Given the description of an element on the screen output the (x, y) to click on. 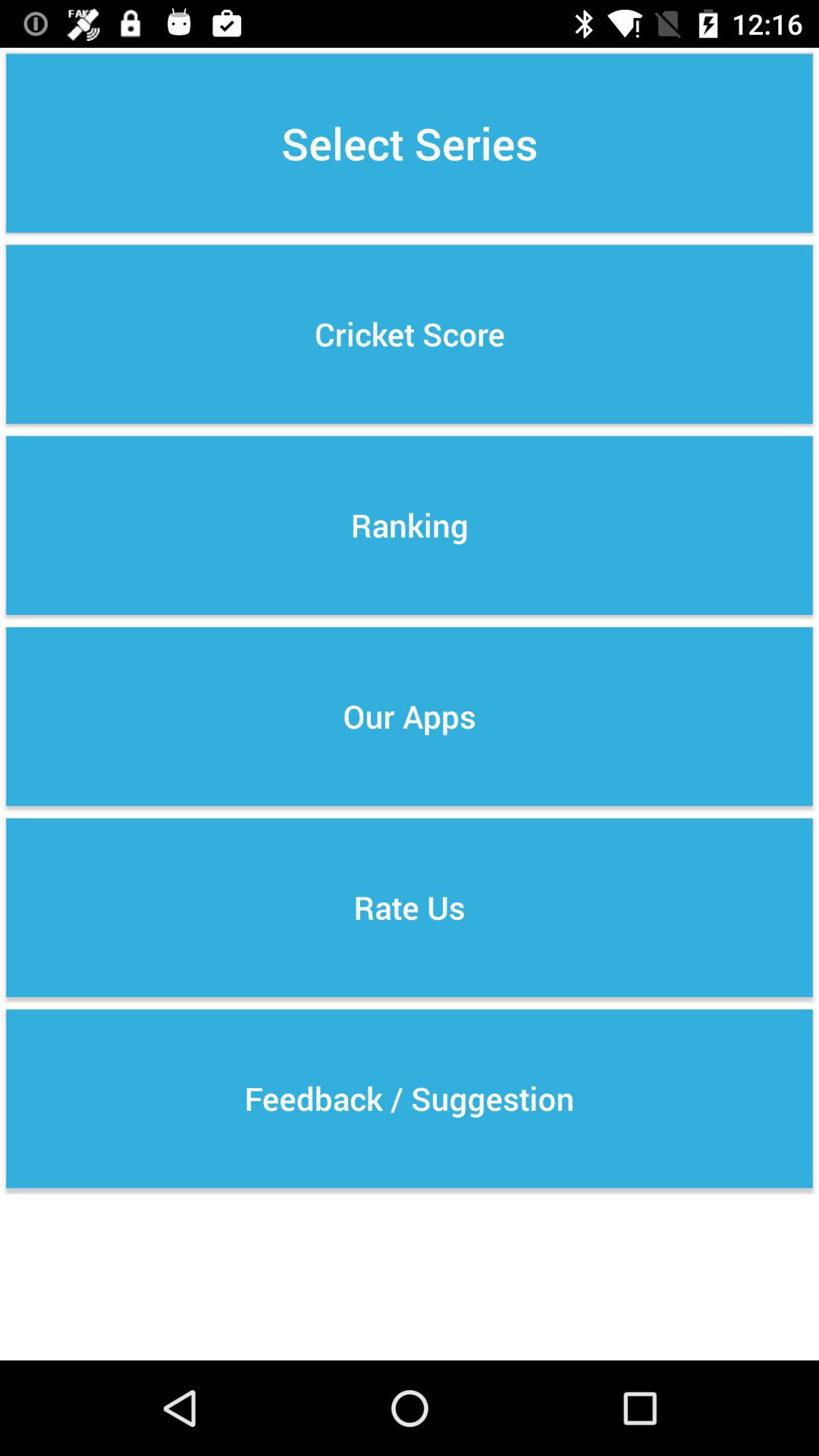
press the ranking icon (409, 525)
